Given the description of an element on the screen output the (x, y) to click on. 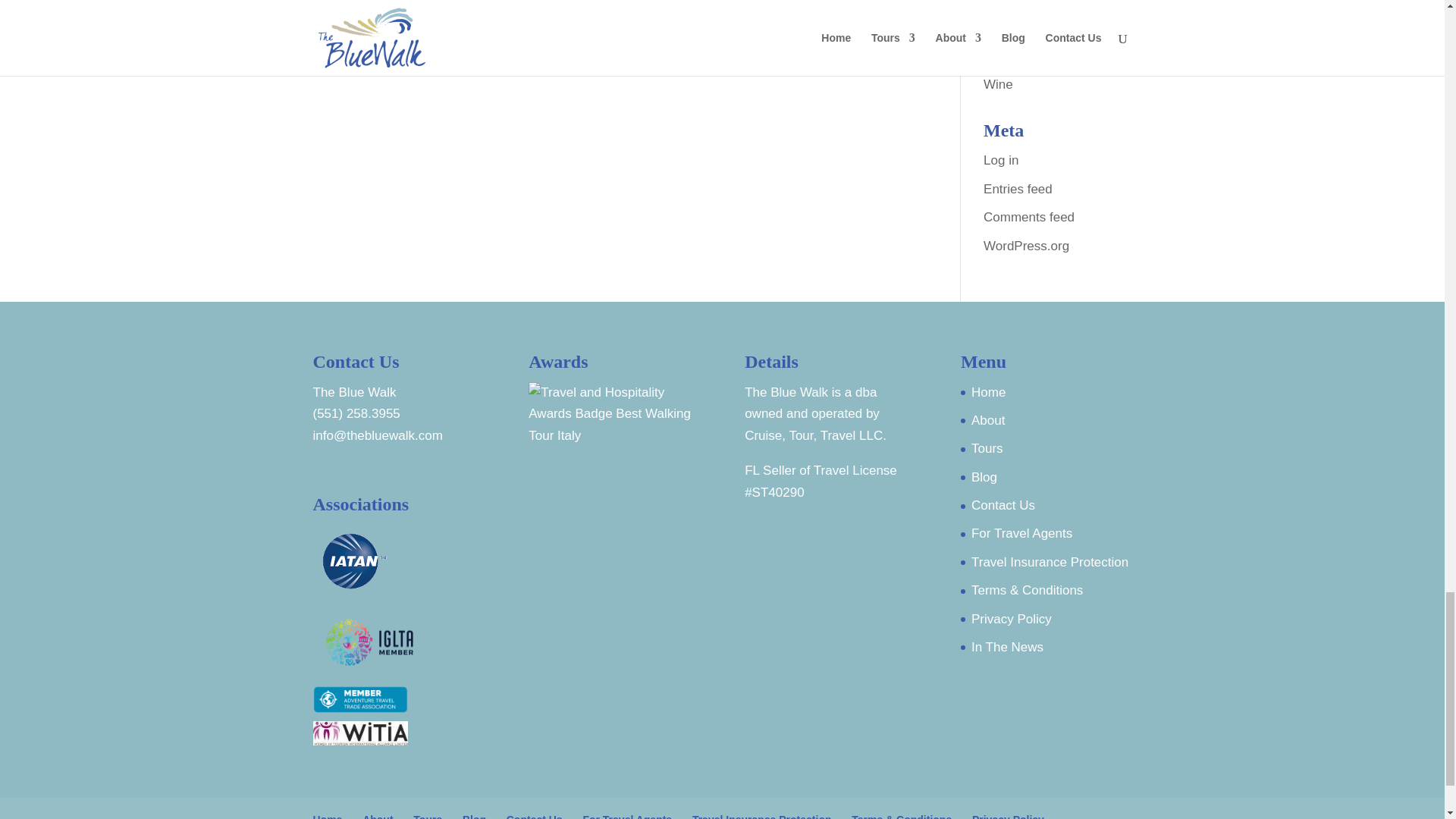
Awards (613, 414)
